Given the description of an element on the screen output the (x, y) to click on. 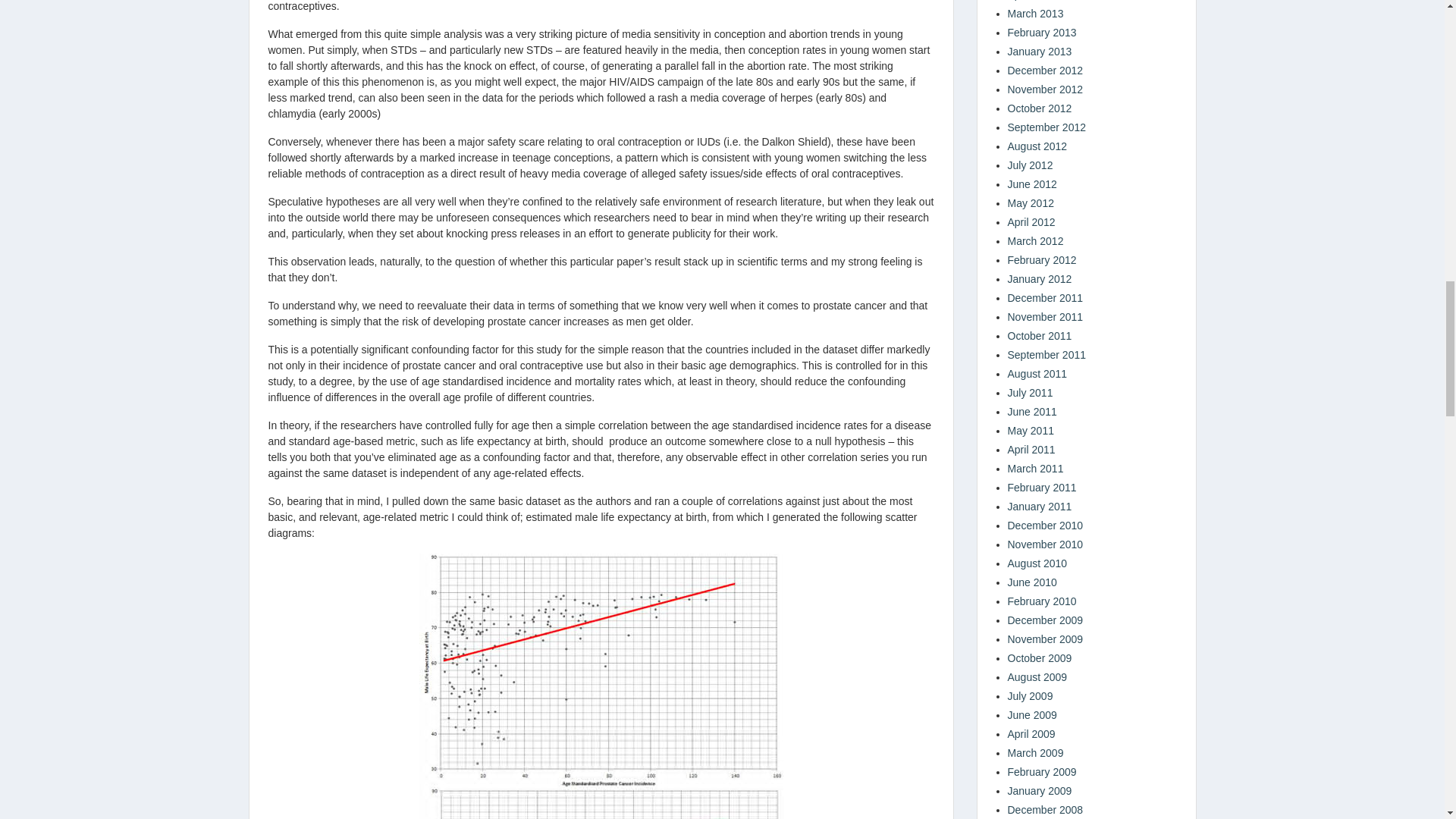
pcagraphs (601, 686)
